Given the description of an element on the screen output the (x, y) to click on. 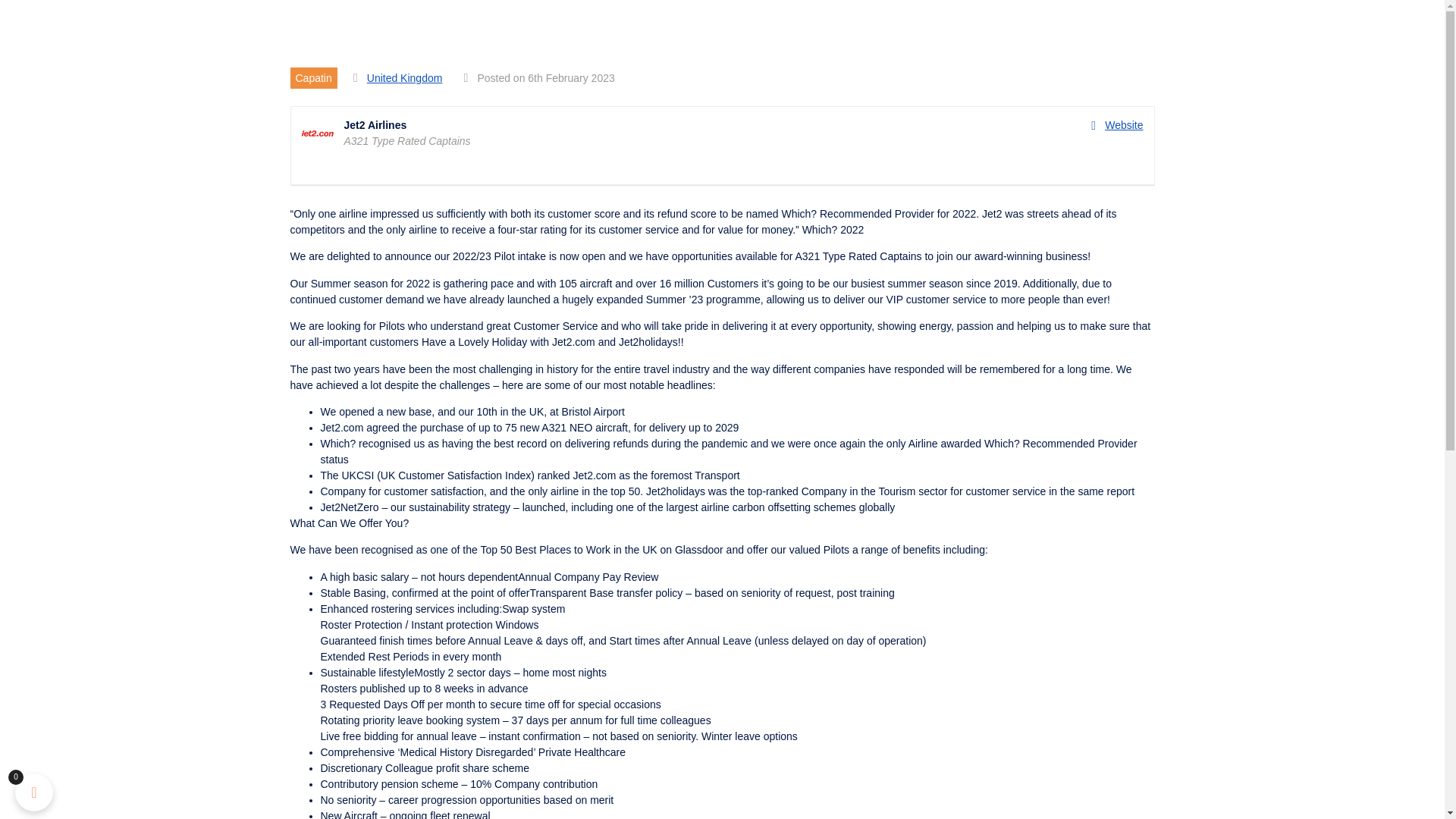
Website (1116, 125)
United Kingdom (404, 78)
